Given the description of an element on the screen output the (x, y) to click on. 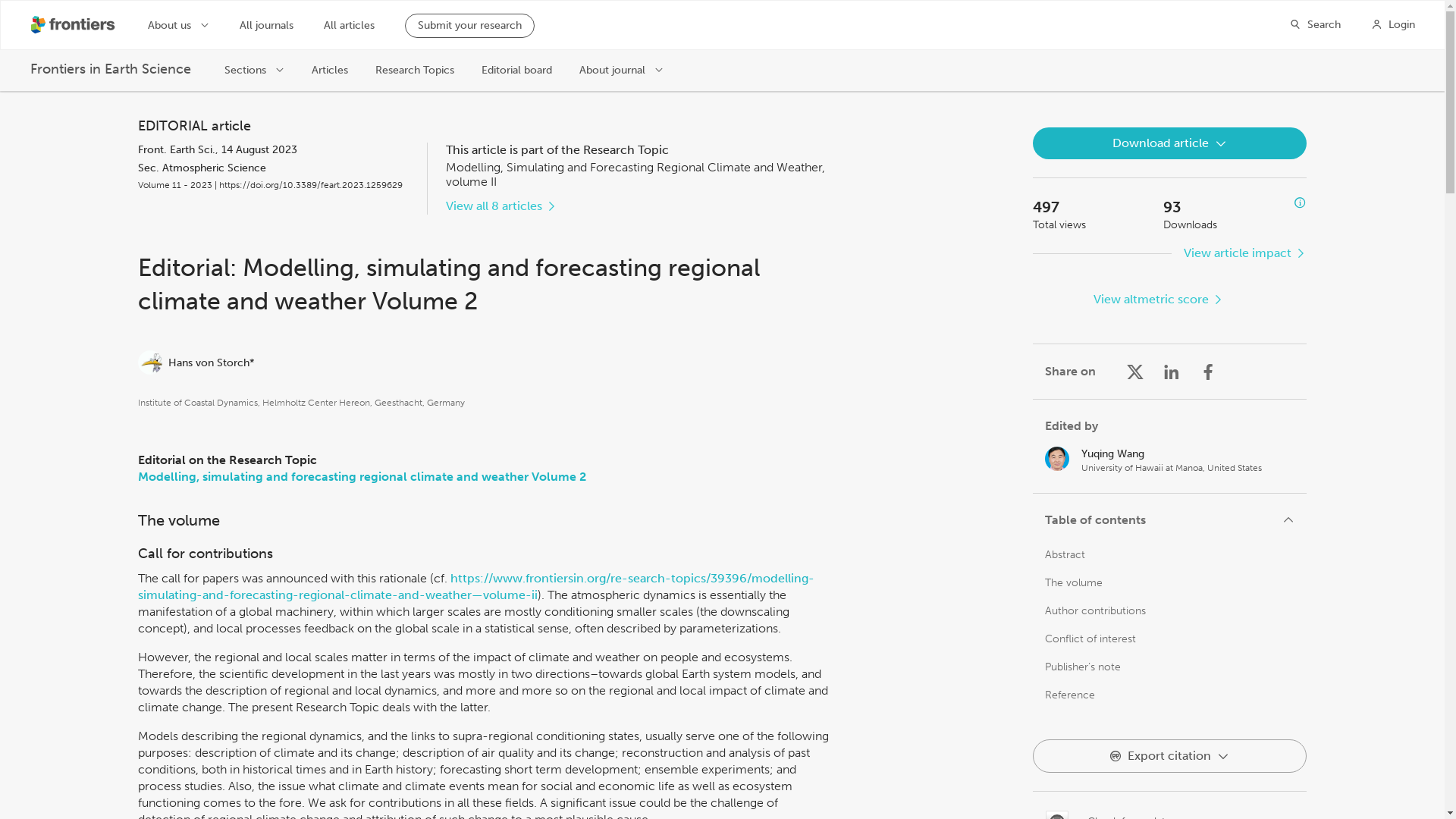
Submit your research (469, 25)
Login (1393, 24)
Share on X (1134, 371)
Share on Facebook (1207, 371)
All journals (267, 25)
All articles (348, 25)
About us (178, 24)
Share on Linkedin (1170, 371)
Search (1314, 24)
